Given the description of an element on the screen output the (x, y) to click on. 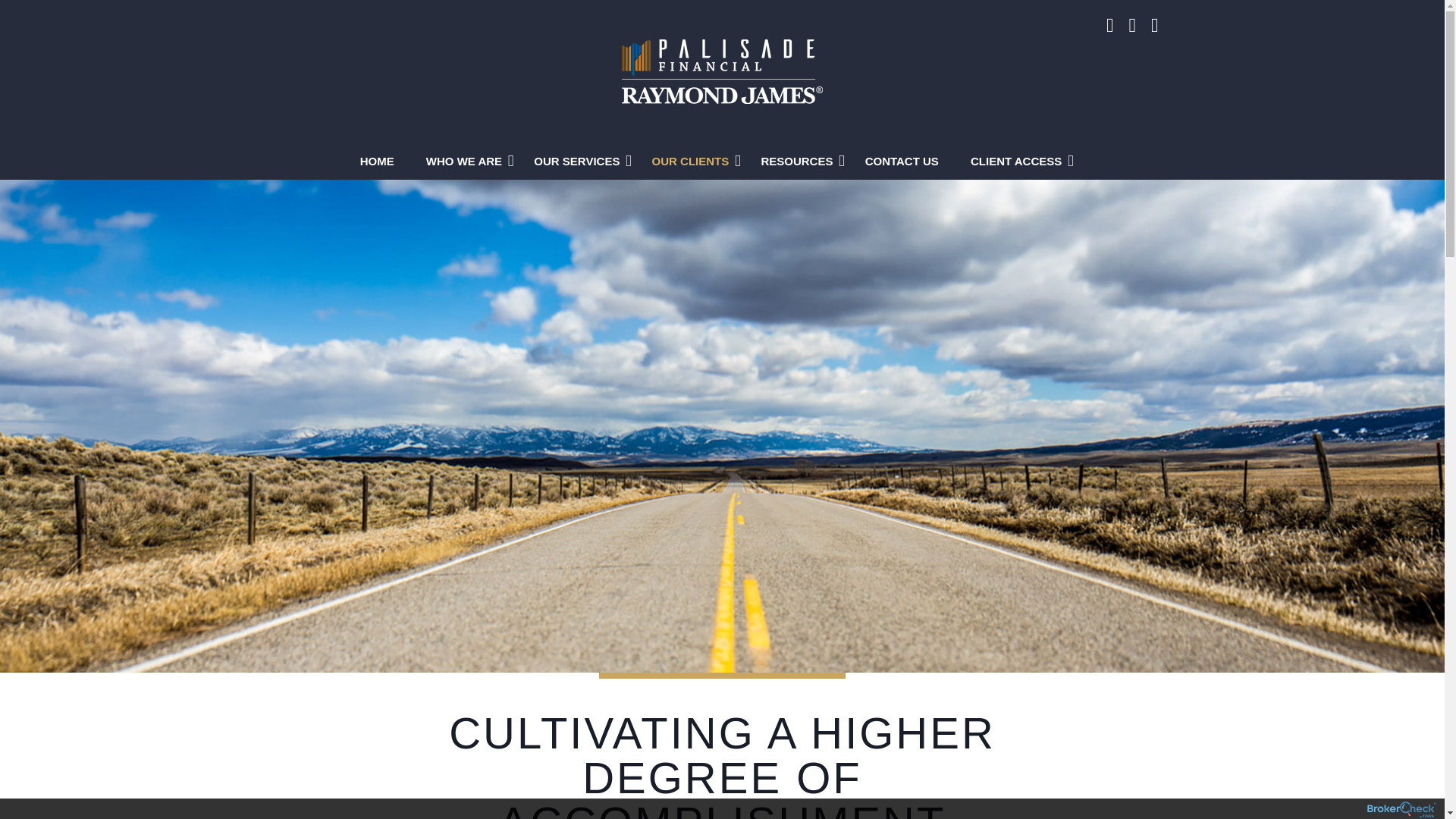
envelope (1154, 27)
OUR CLIENTS (694, 160)
WHO WE ARE (467, 160)
CLIENT ACCESS (1019, 160)
HOME (380, 160)
linkedin (1131, 27)
RESOURCES (800, 160)
OUR SERVICES (580, 160)
facebook (1110, 27)
CONTACT US (905, 160)
